Given the description of an element on the screen output the (x, y) to click on. 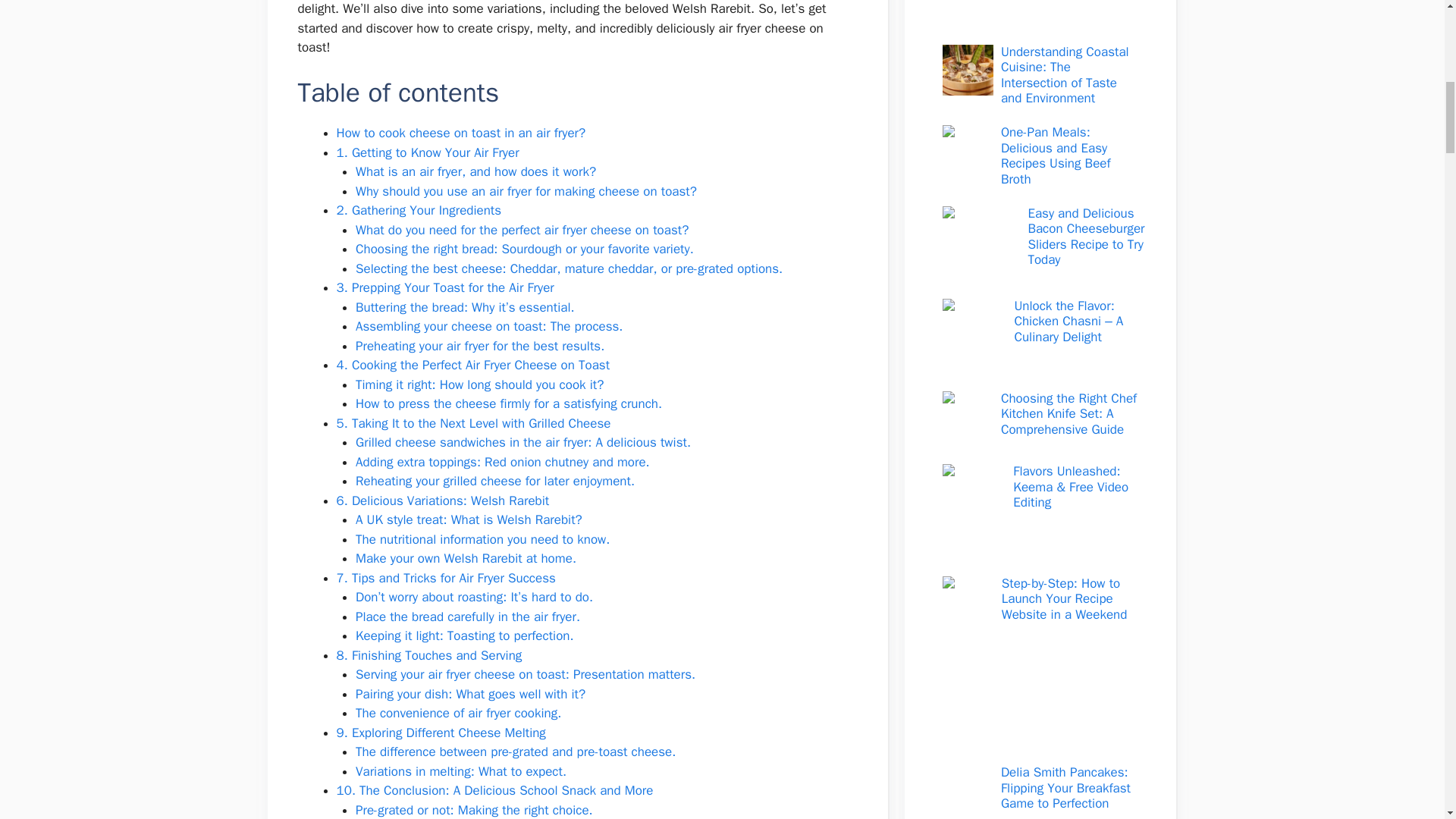
Assembling your cheese on toast: The process. (489, 326)
How to cook cheese on toast in an air fryer? (461, 132)
1. Getting to Know Your Air Fryer (427, 152)
The nutritional information you need to know. (482, 539)
How to press the cheese firmly for a satisfying crunch. (508, 403)
Preheating your air fryer for the best results. (479, 345)
Make your own Welsh Rarebit at home. (465, 558)
A UK style treat: What is Welsh Rarebit? (468, 519)
3. Prepping Your Toast for the Air Fryer (445, 287)
What is an air fryer, and how does it work? (475, 171)
Adding extra toppings: Red onion chutney and more. (502, 462)
Keeping it light: Toasting to perfection. (464, 635)
